Given the description of an element on the screen output the (x, y) to click on. 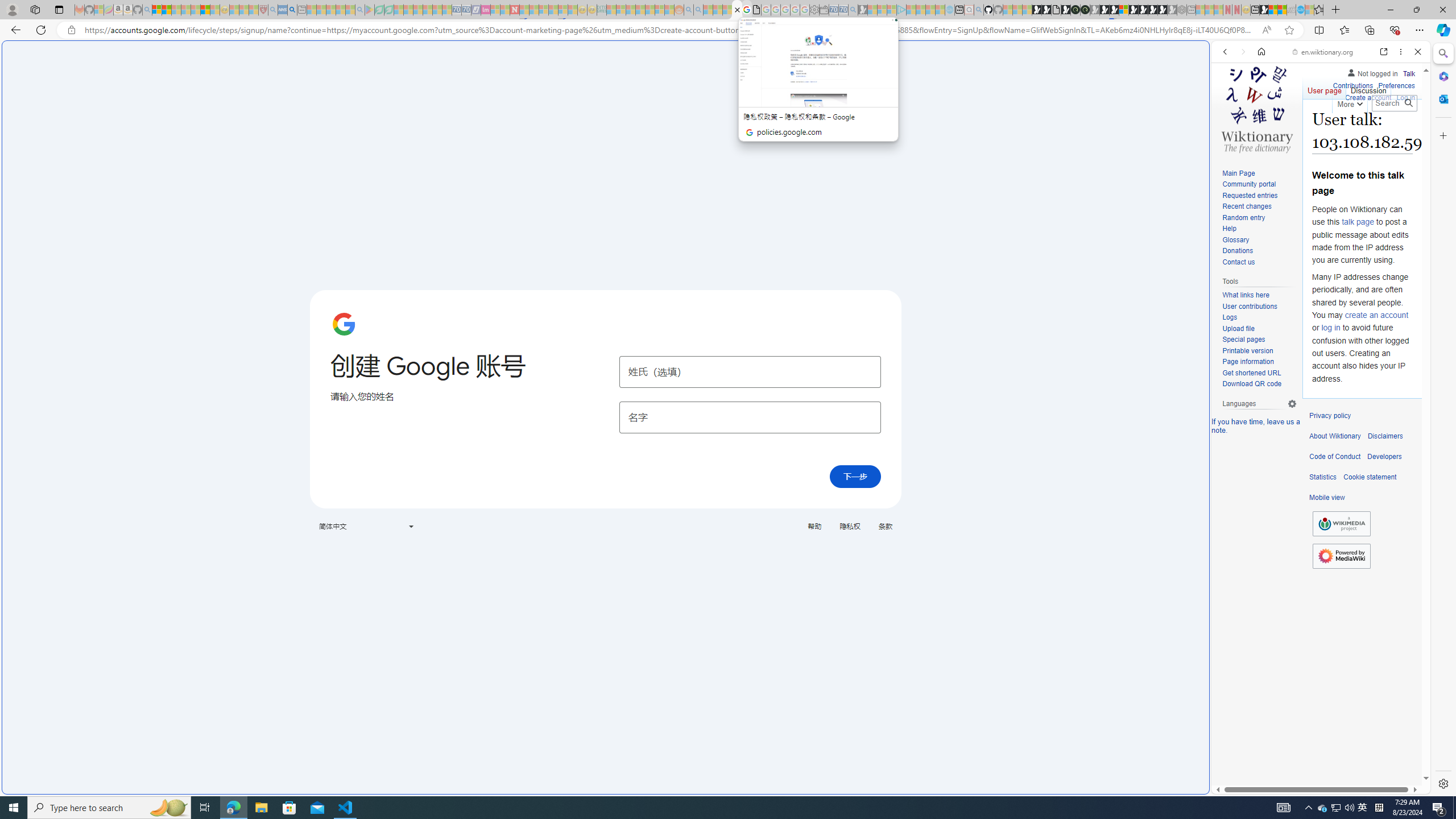
Printable version (1247, 350)
Download QR code (1259, 383)
Close split screen (1208, 57)
Powered by MediaWiki (1341, 556)
Upload file (1259, 328)
Go (1408, 102)
